Given the description of an element on the screen output the (x, y) to click on. 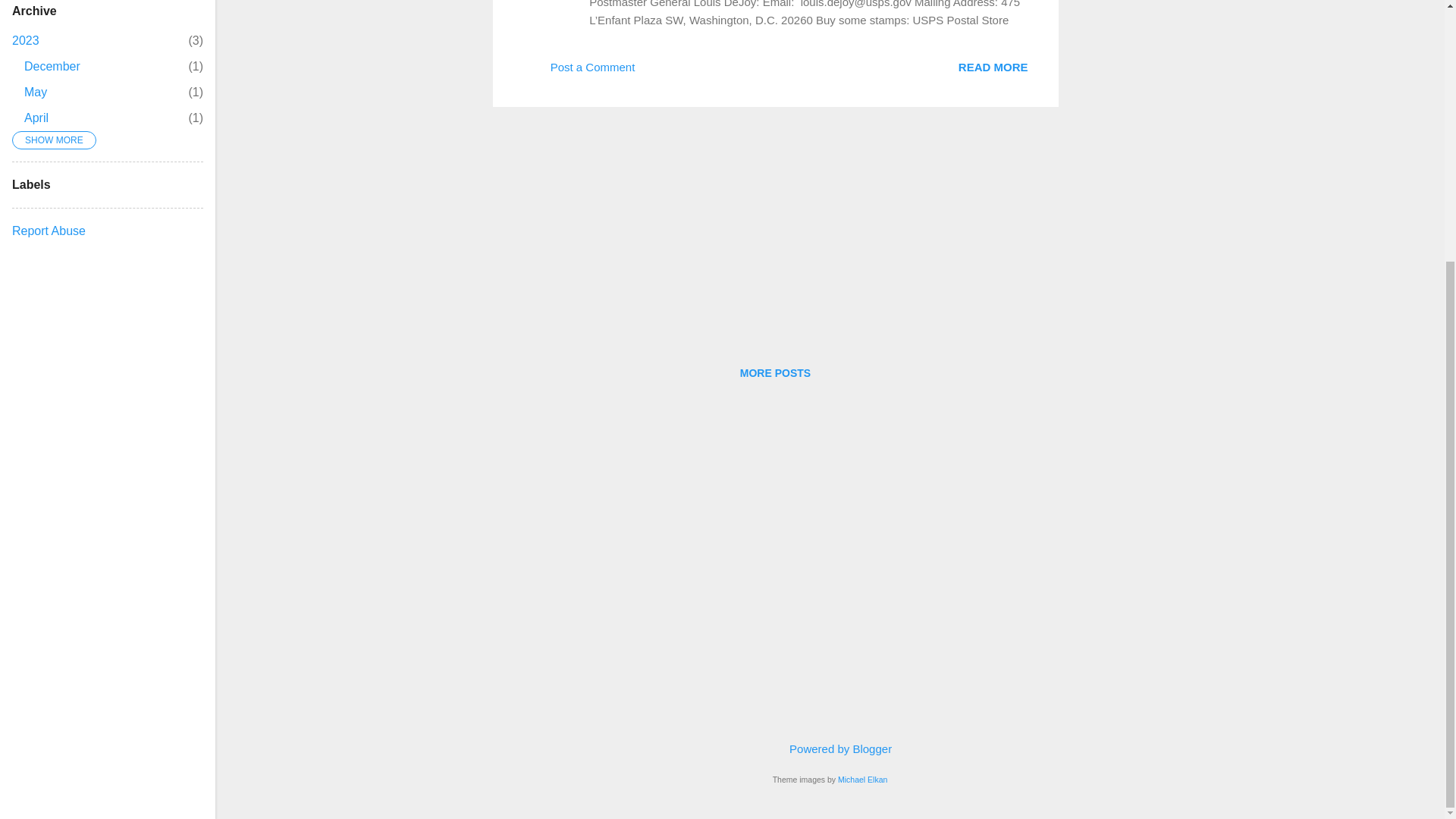
Powered by Blogger (829, 748)
More posts (774, 372)
Post a Comment (25, 40)
Email Post (36, 117)
READ MORE (578, 72)
MORE POSTS (658, 72)
Michael Elkan (992, 65)
Support the USPS (52, 65)
